Given the description of an element on the screen output the (x, y) to click on. 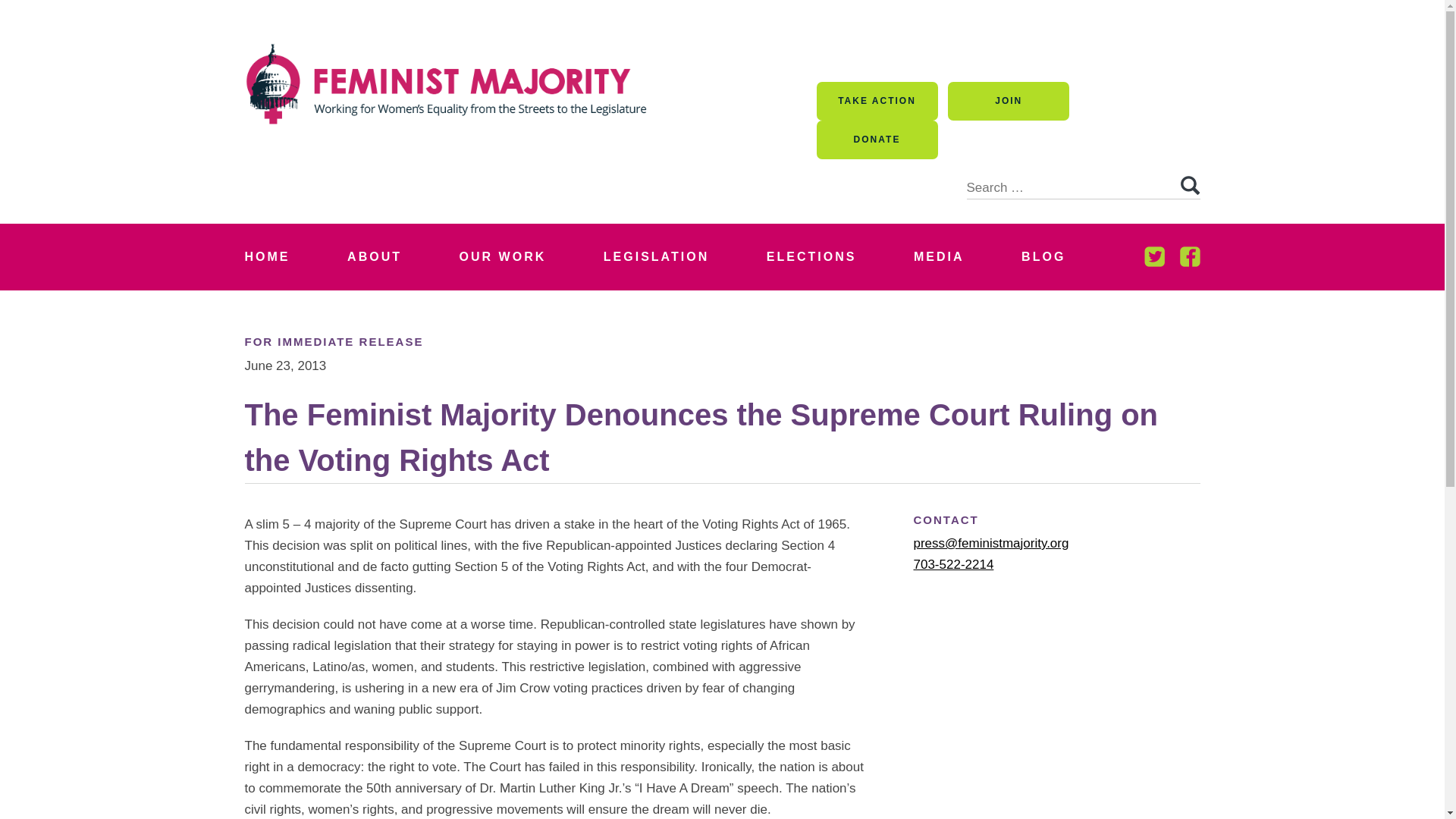
OUR WORK (502, 256)
JOIN (1007, 100)
BLOG (1043, 256)
Search (1189, 185)
Search (1189, 185)
ELECTIONS (811, 256)
TAKE ACTION (876, 100)
MEDIA (938, 256)
703-522-2214 (952, 564)
FACEBOOK (1189, 256)
